Given the description of an element on the screen output the (x, y) to click on. 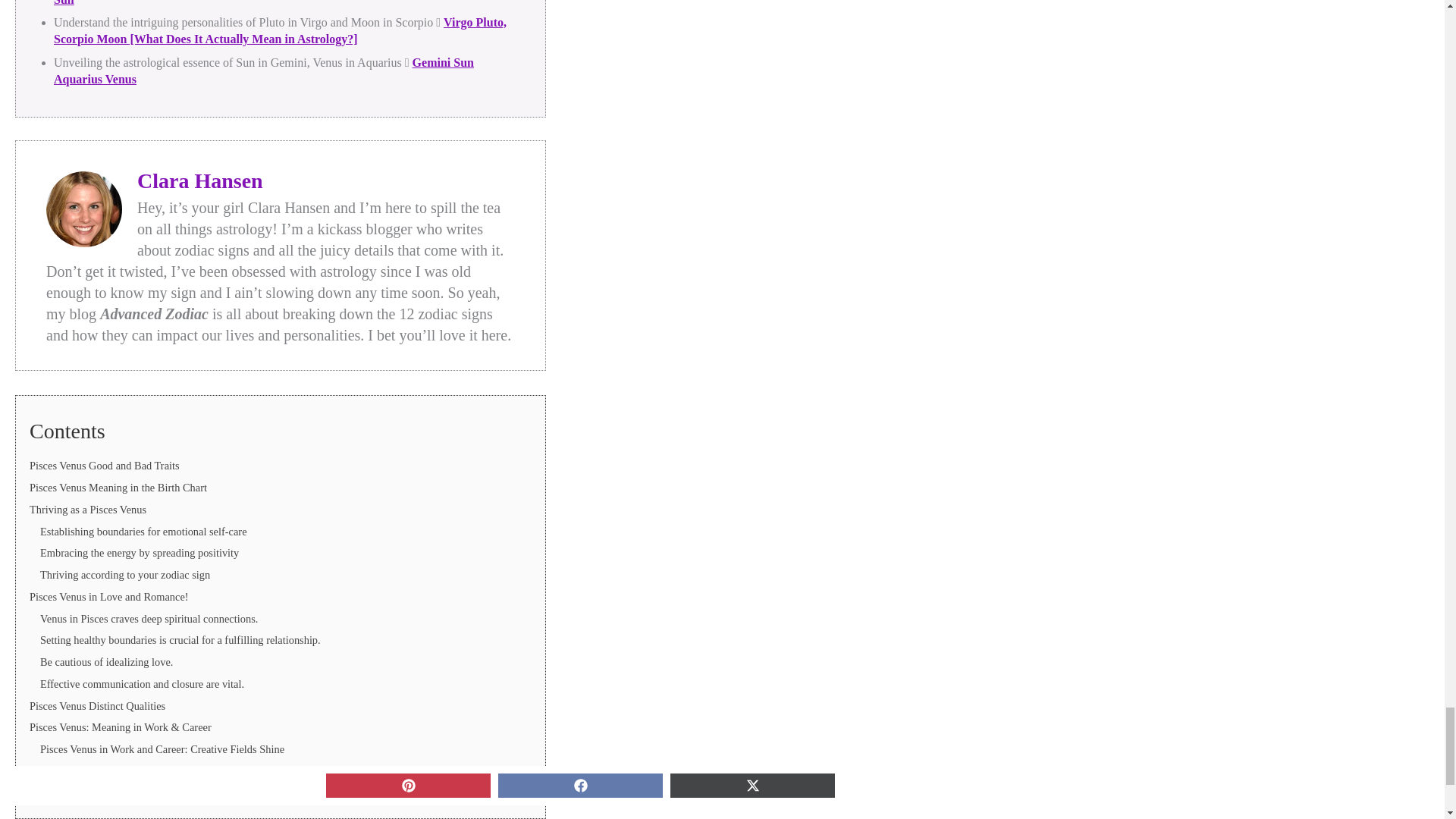
Thriving as a Pisces Venus (88, 509)
Embracing the energy by spreading positivity (139, 552)
Pisces Venus Meaning in the Birth Chart (117, 487)
Pisces Venus Good and Bad Traits (104, 465)
Pisces Venus in Love and Romance! (109, 596)
Clara Hansen (199, 180)
Thriving according to your zodiac sign (124, 574)
Establishing boundaries for emotional self-care (143, 531)
